Given the description of an element on the screen output the (x, y) to click on. 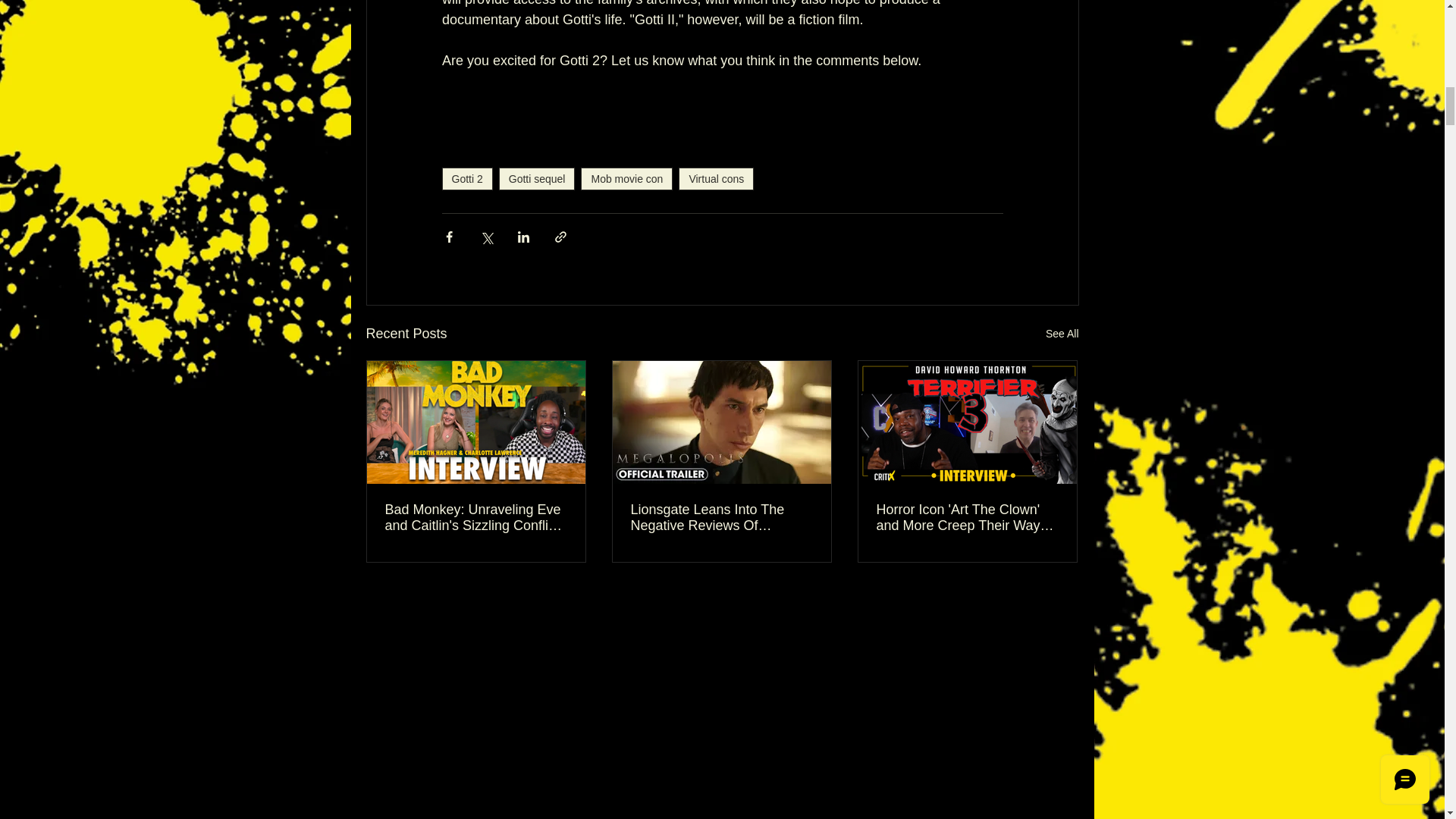
Gotti 2 (466, 178)
See All (1061, 333)
Virtual cons (716, 178)
Mob movie con (626, 178)
Gotti sequel (537, 178)
